Given the description of an element on the screen output the (x, y) to click on. 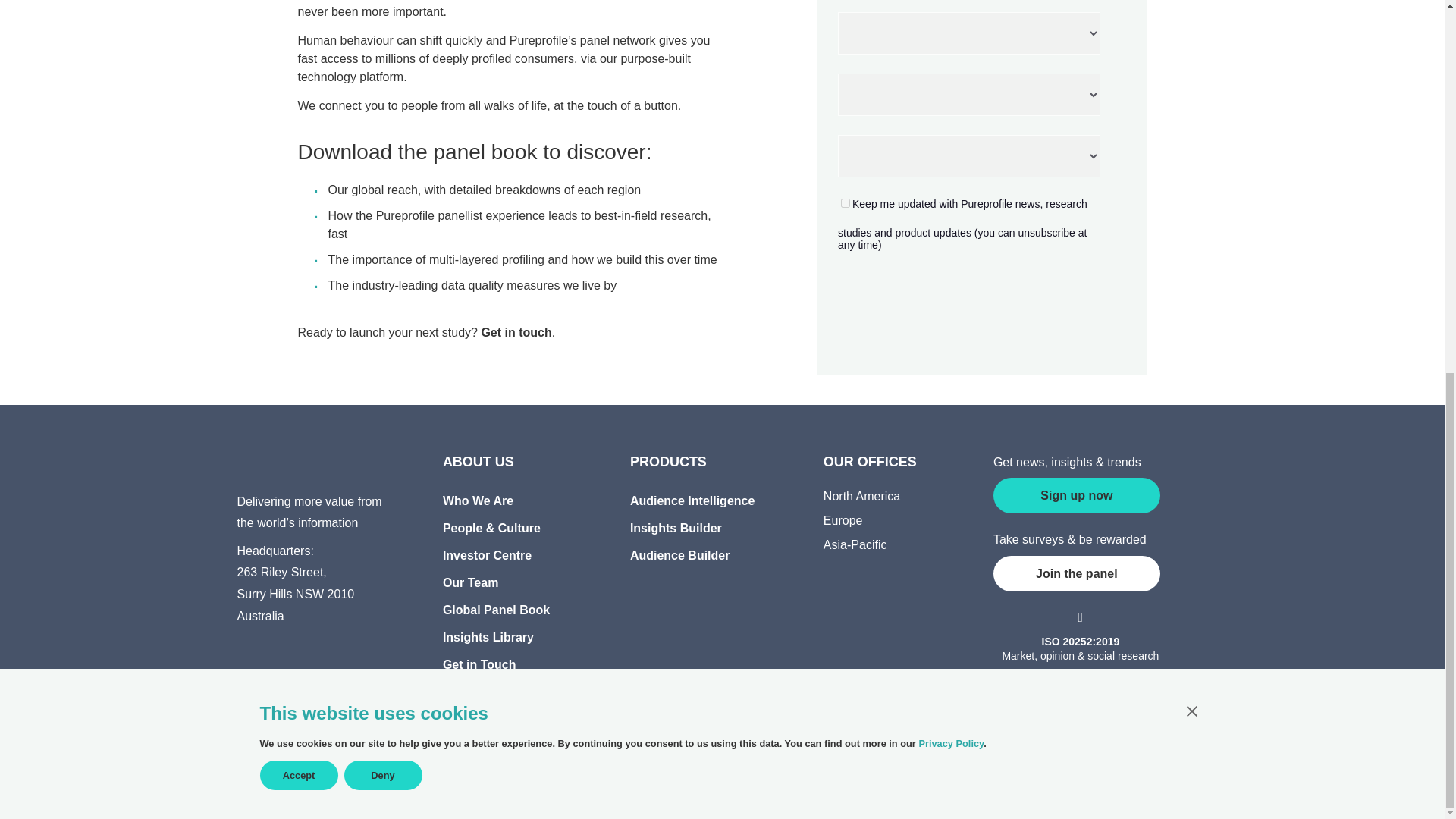
Self-service data research tools (719, 528)
A SaaS platform that creates new, passive revenue streams (719, 555)
Click-ready whole of market data (719, 501)
